Given the description of an element on the screen output the (x, y) to click on. 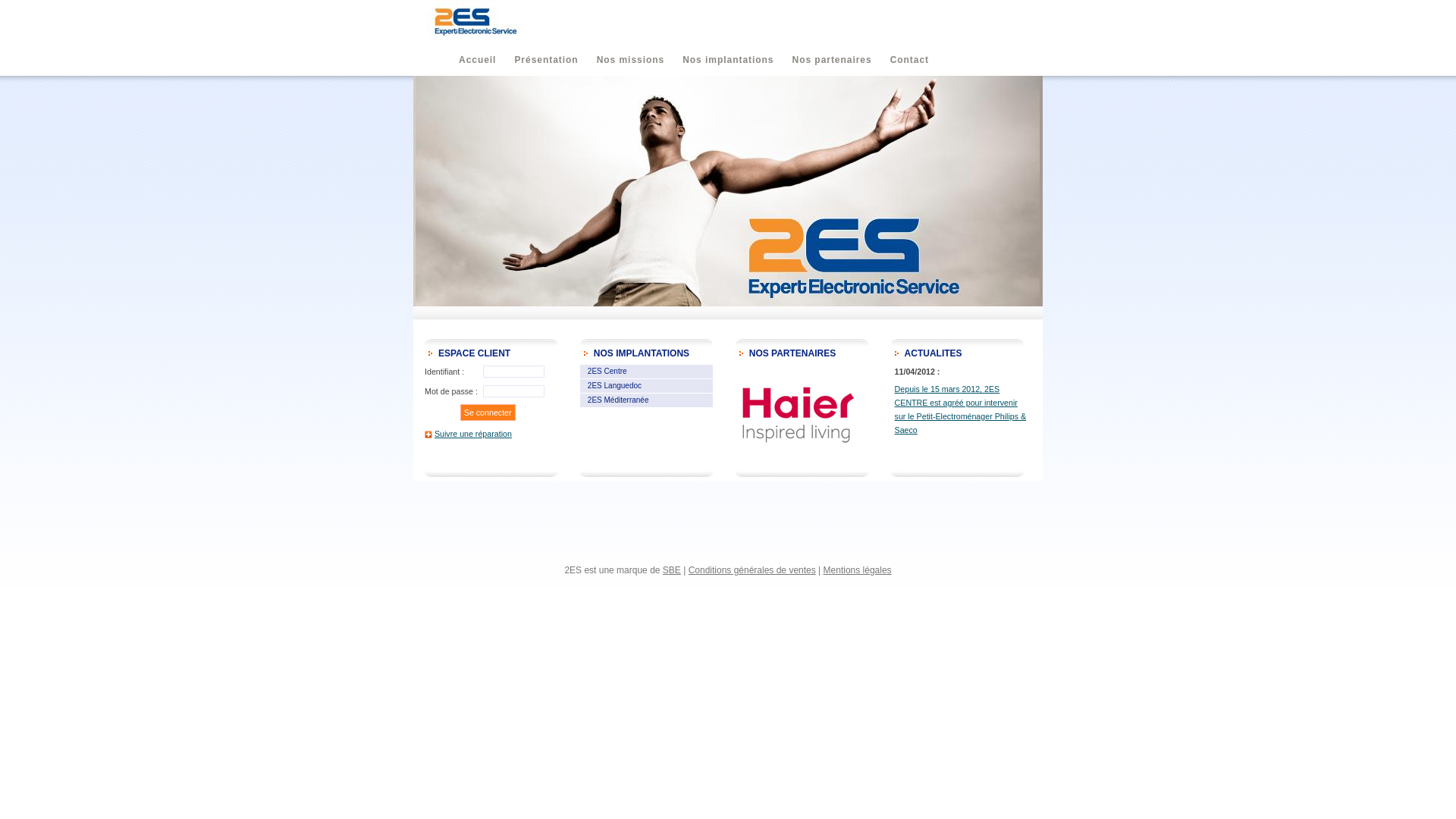
Contact Element type: text (909, 59)
2ES Centre Element type: text (607, 371)
Se connecter Element type: text (487, 412)
Nos implantations Element type: text (727, 59)
2ES Languedoc Element type: text (614, 385)
Nos partenaires Element type: text (832, 59)
SBE Element type: text (671, 569)
Accueil Element type: text (477, 59)
Nos missions Element type: text (630, 59)
